Given the description of an element on the screen output the (x, y) to click on. 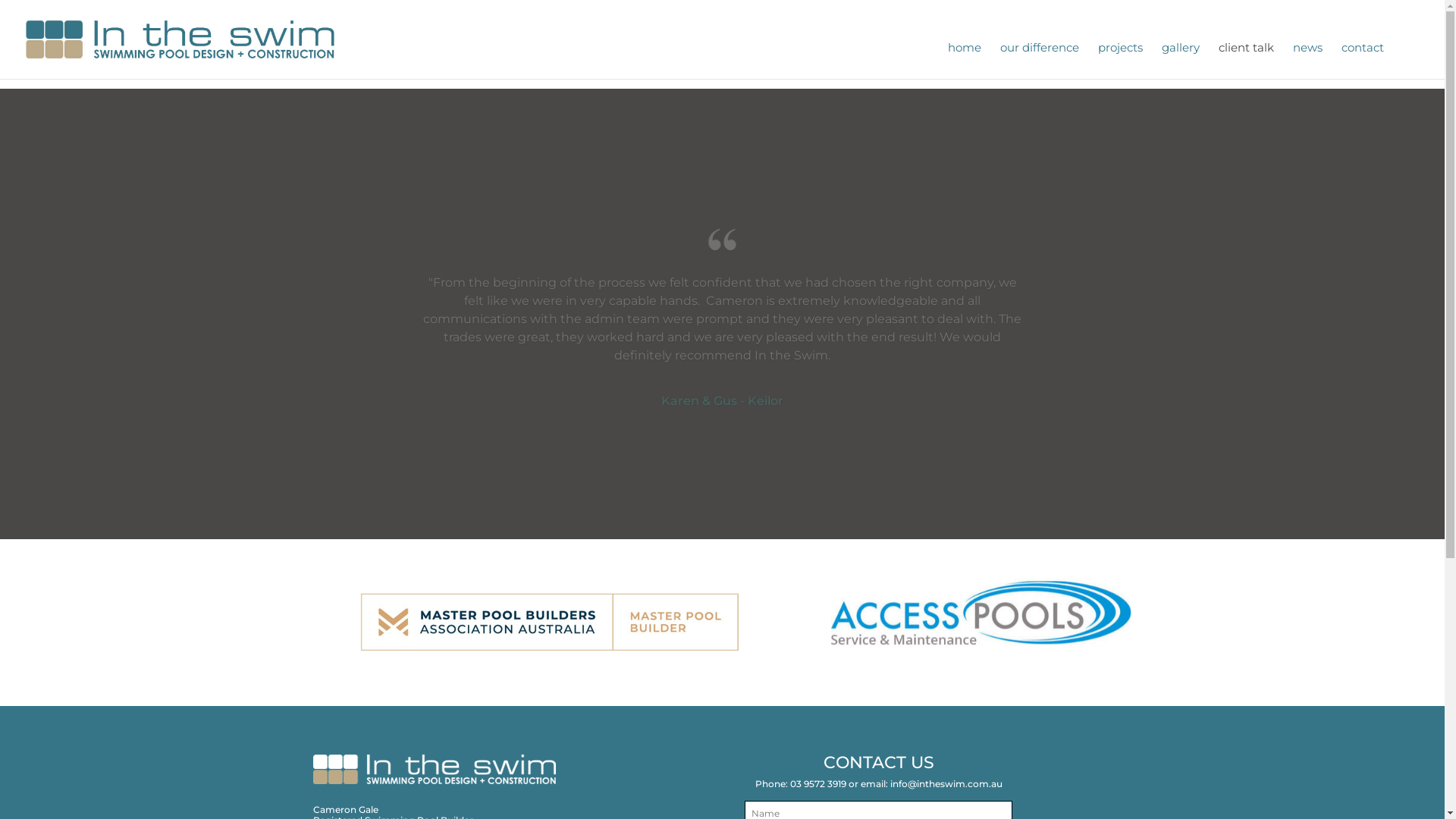
access-pools-logo-tagline-3 Element type: hover (981, 620)
our difference Element type: text (1039, 60)
03 9572 3919 Element type: text (818, 783)
info@intheswim.com.au Element type: text (946, 783)
contact Element type: text (1362, 60)
master pool builders assocation Element type: hover (549, 621)
home Element type: text (964, 60)
client talk Element type: text (1246, 60)
gallery Element type: text (1180, 60)
news Element type: text (1307, 60)
projects Element type: text (1120, 60)
